Given the description of an element on the screen output the (x, y) to click on. 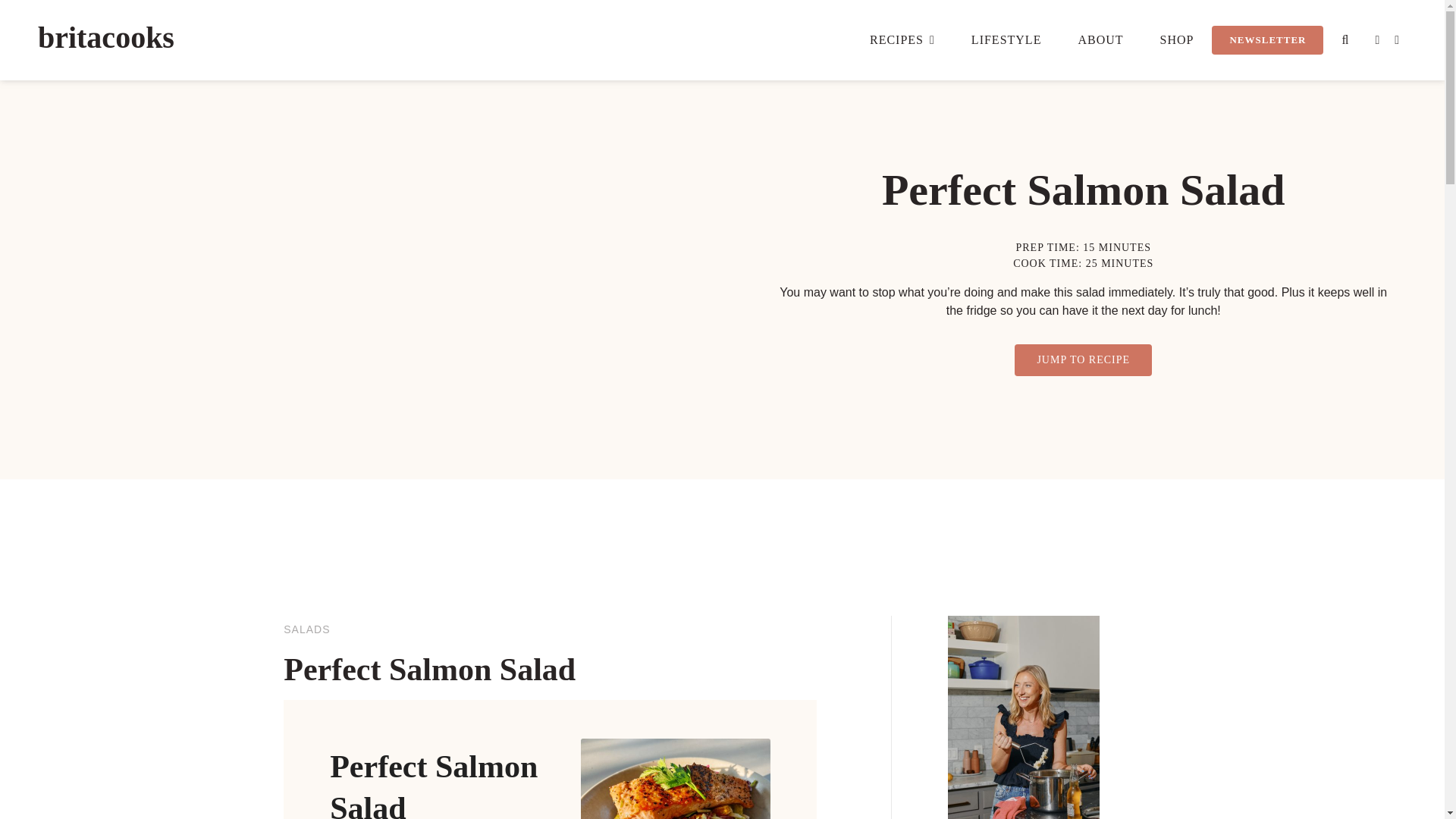
ABOUT (1100, 39)
NEWSLETTER (1267, 39)
RECIPES (902, 39)
SALADS (306, 629)
LIFESTYLE (1006, 39)
JUMP TO RECIPE (1082, 359)
britacooks (105, 37)
JUMP TO RECIPE (1082, 359)
Search (1345, 39)
SHOP (1176, 39)
